Given the description of an element on the screen output the (x, y) to click on. 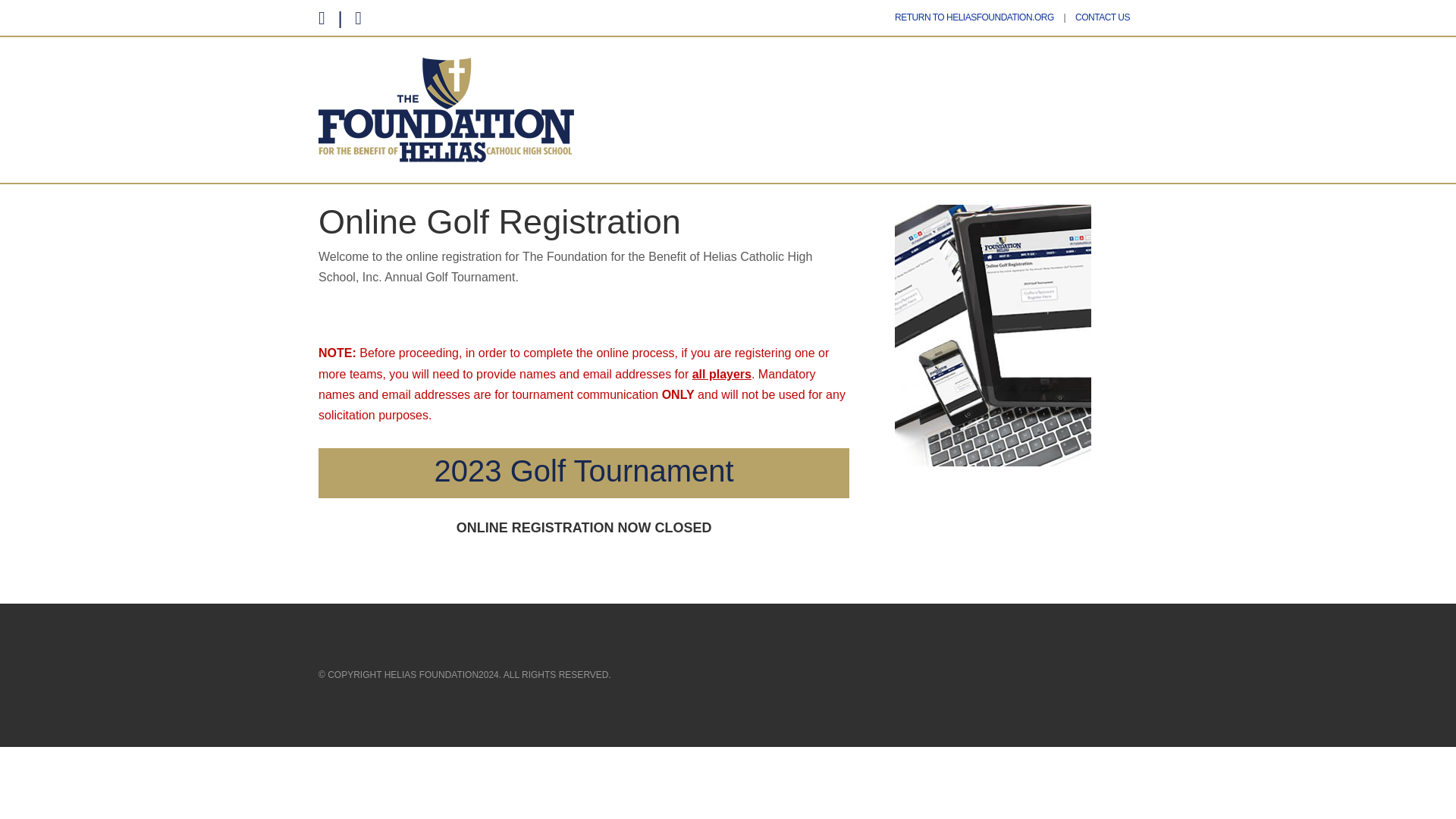
logo (445, 109)
RETURN TO HELIASFOUNDATION.ORG (974, 17)
CONTACT US (1102, 17)
